Given the description of an element on the screen output the (x, y) to click on. 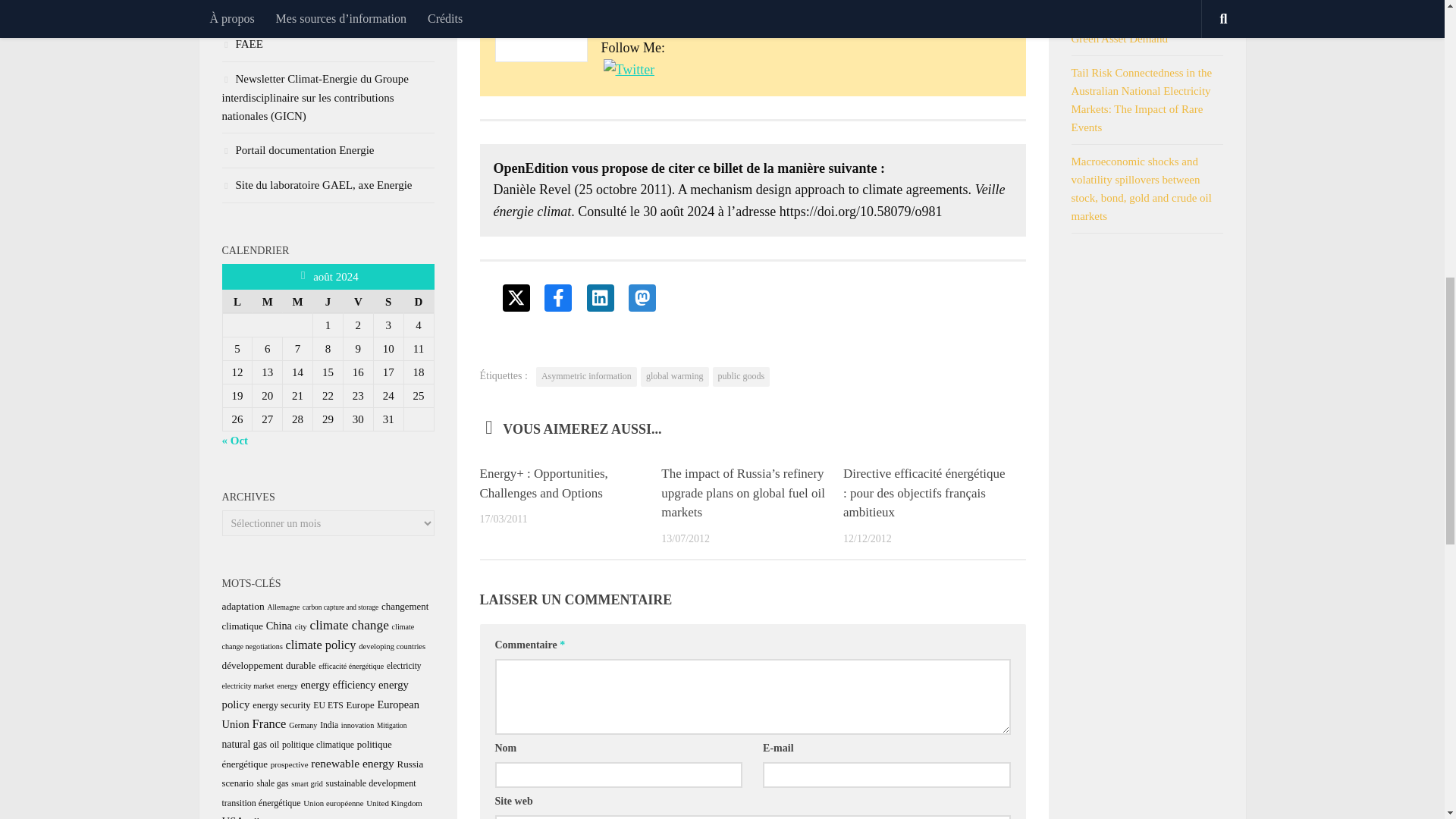
Asymmetric information (586, 376)
public goods (741, 376)
global warming (674, 376)
More Posts (630, 21)
Website (695, 21)
